Given the description of an element on the screen output the (x, y) to click on. 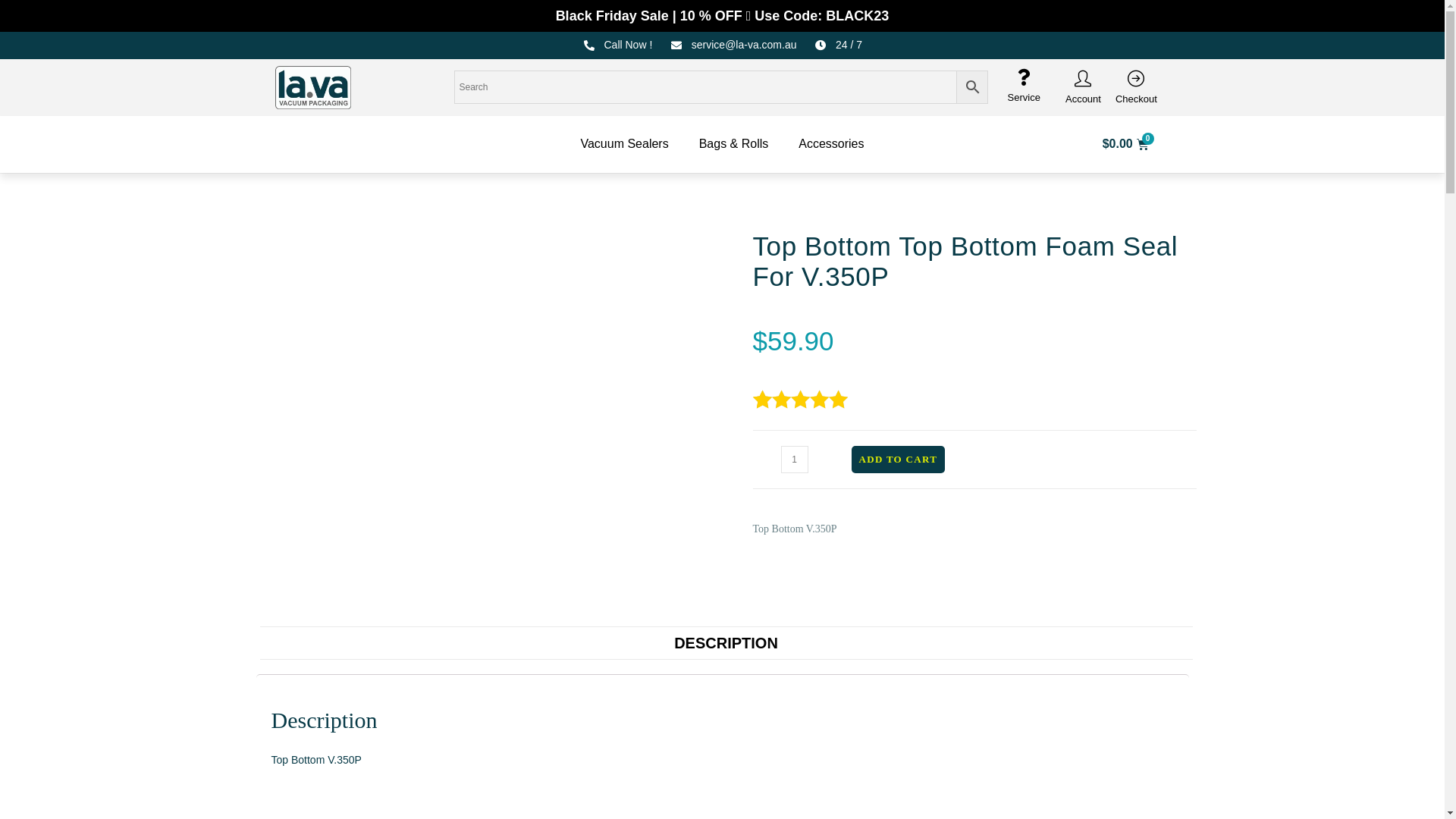
$0.00
0 Element type: text (1125, 144)
ADD TO CART Element type: text (897, 459)
Service Element type: text (1023, 97)
2385 Element type: text (1104, 24)
Checkout Element type: text (1136, 98)
DESCRIPTION Element type: text (725, 642)
Top Bottom Top Bottom Foam Seal for V.350P Element type: hover (312, 144)
Top Bottom Top Bottom Foam Seal for V.350P Element type: hover (312, 86)
Account Element type: text (1083, 98)
service@la-va.com.au Element type: text (732, 44)
Call Now ! Element type: text (617, 44)
Accessories Element type: text (830, 143)
Bags & Rolls Element type: text (734, 143)
Vacuum Sealers Element type: text (623, 143)
